Given the description of an element on the screen output the (x, y) to click on. 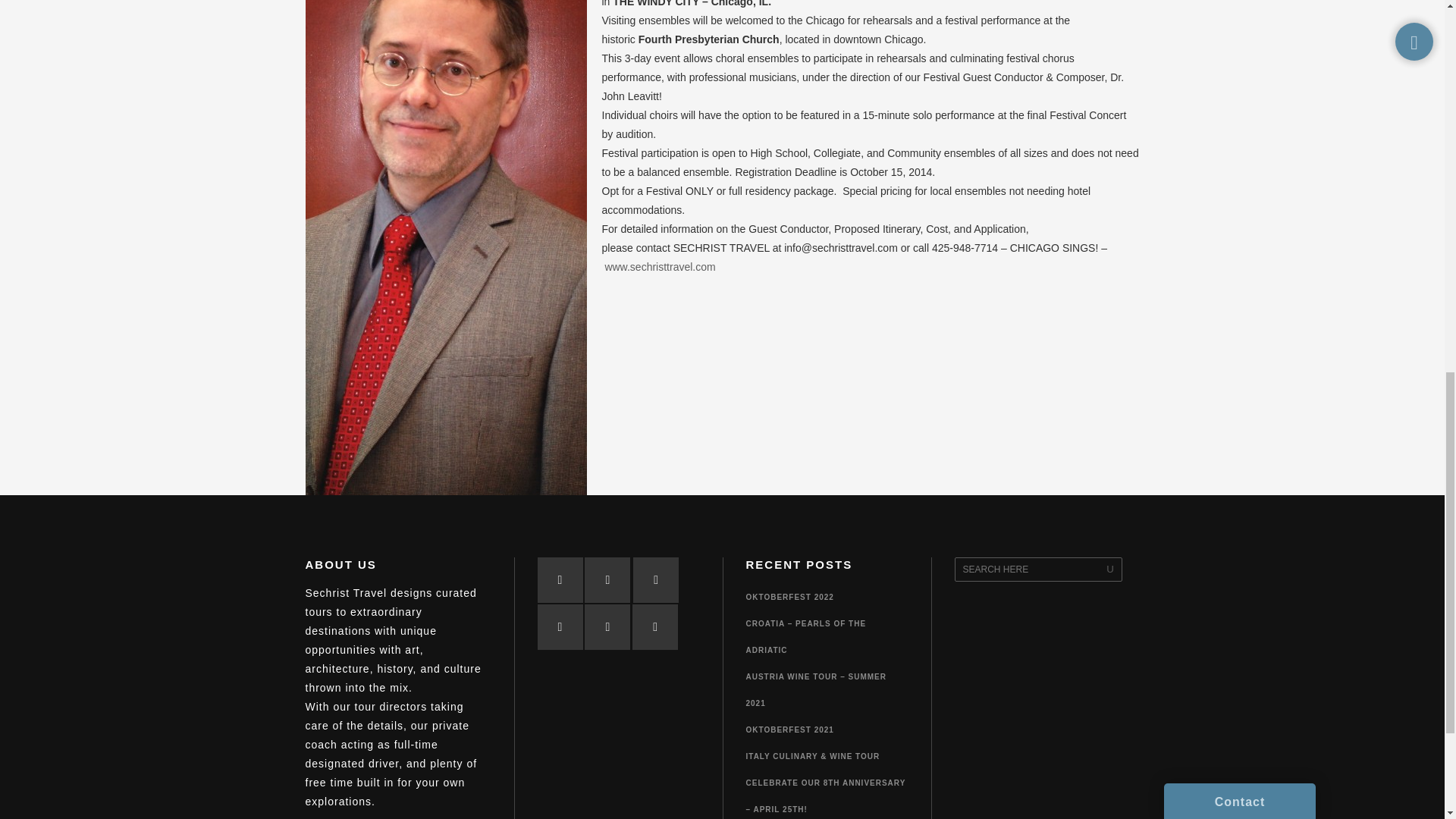
U (1110, 568)
